Given the description of an element on the screen output the (x, y) to click on. 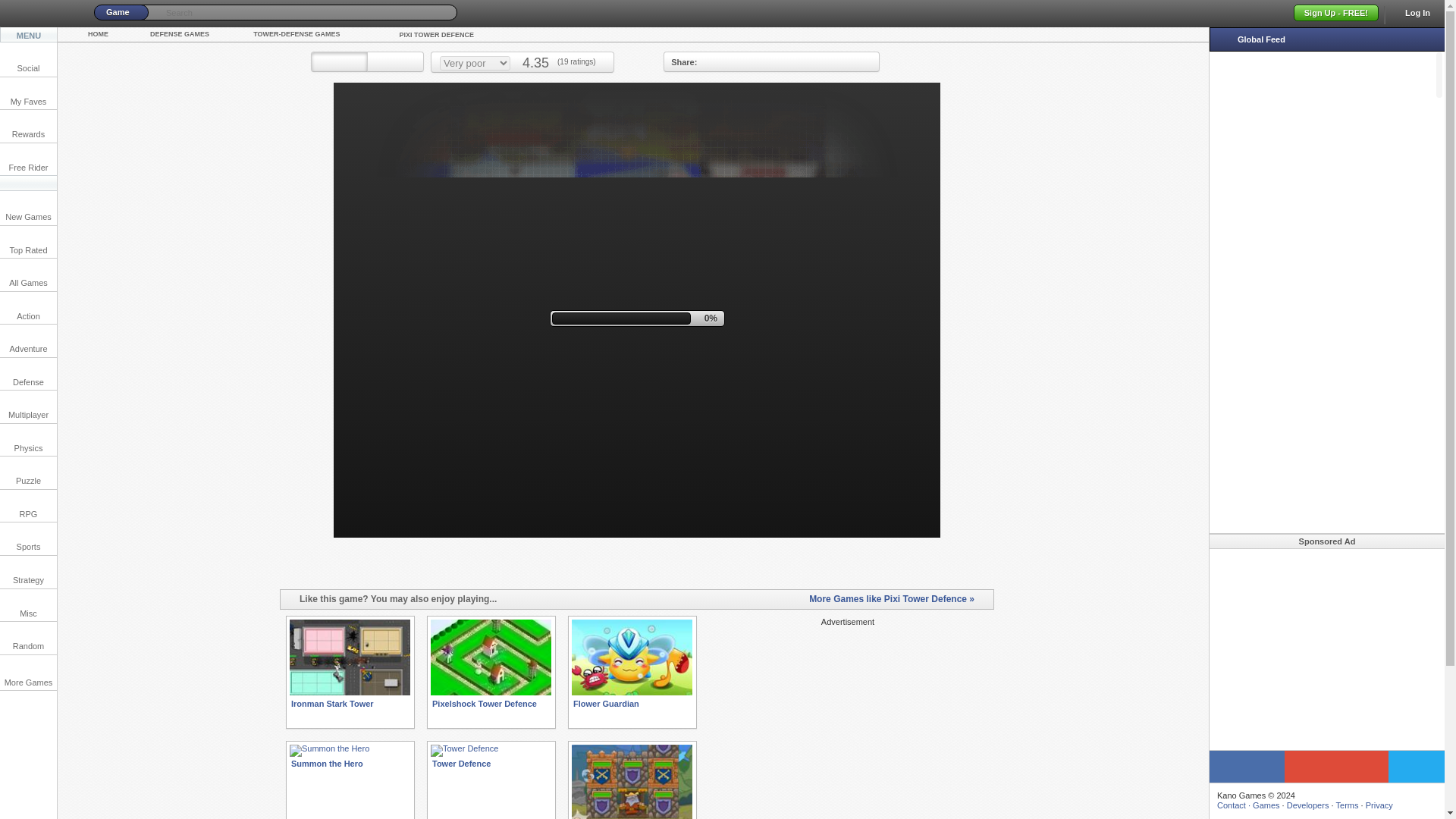
Multiplayer (28, 406)
More Games (28, 674)
RPG (28, 505)
Sports (28, 538)
Action (28, 307)
Misc (28, 604)
Social (28, 60)
Free Rider (28, 159)
Physics (28, 440)
Top Rated (28, 242)
